Given the description of an element on the screen output the (x, y) to click on. 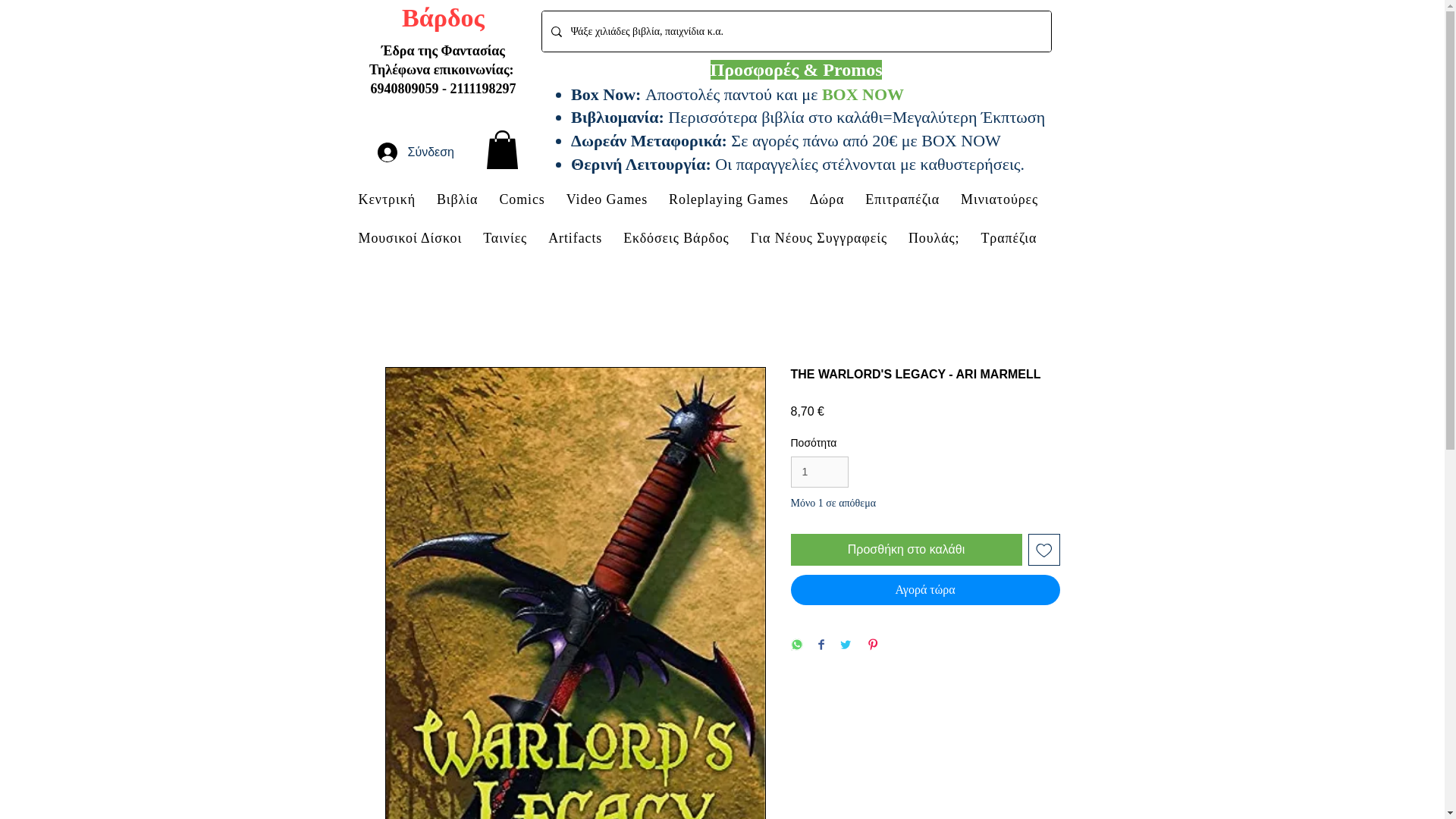
Roleplaying Games (728, 199)
Comics (521, 199)
Artifacts (575, 237)
Video Games (607, 199)
1 (818, 471)
